Given the description of an element on the screen output the (x, y) to click on. 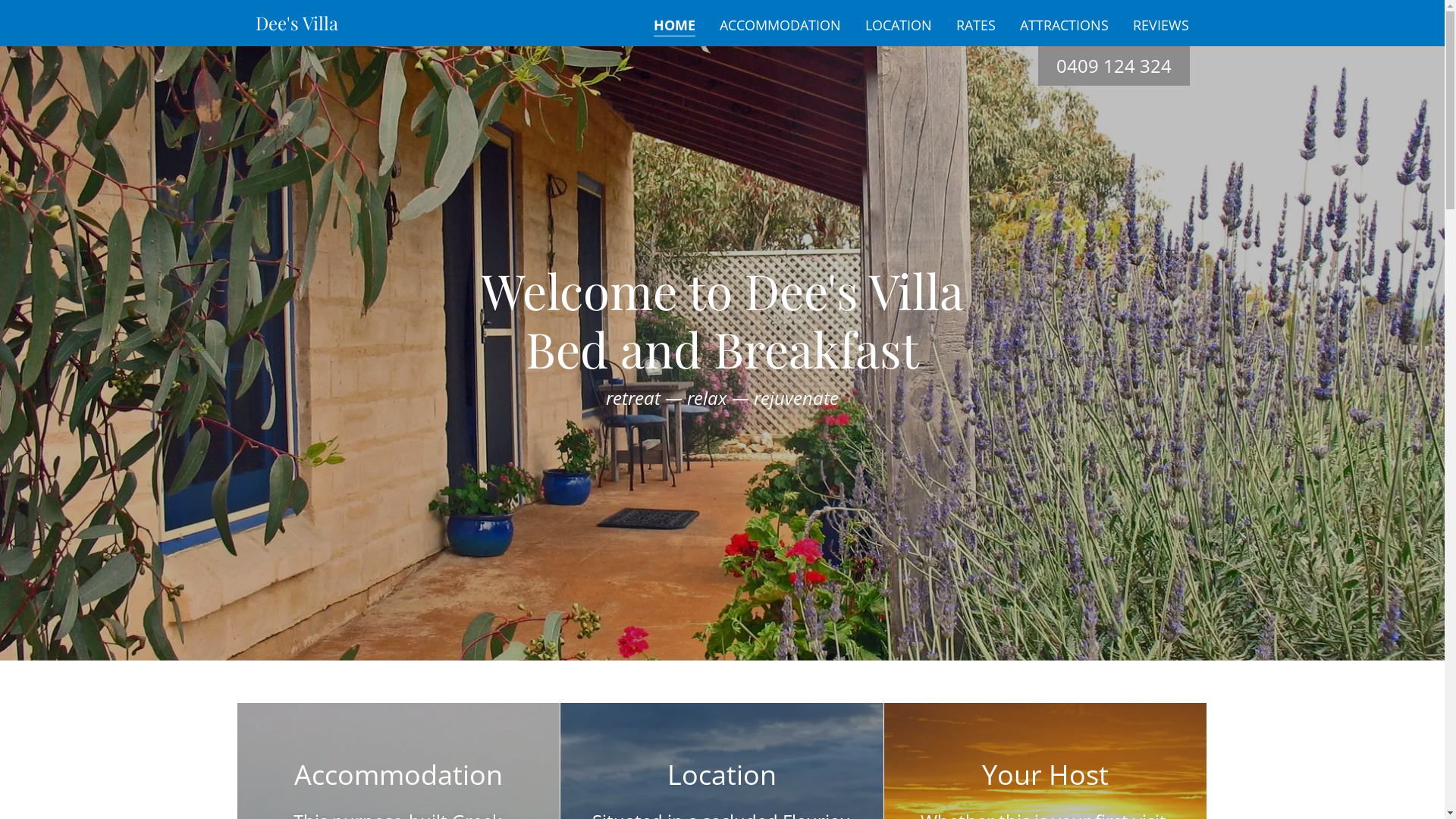
ATTRACTIONS Element type: text (1064, 24)
Dee's Villa Element type: text (295, 24)
LOCATION Element type: text (898, 24)
REVIEWS Element type: text (1160, 24)
RATES Element type: text (975, 24)
HOME Element type: text (674, 25)
ACCOMMODATION Element type: text (780, 24)
0409 124 324 Element type: text (1112, 65)
